Given the description of an element on the screen output the (x, y) to click on. 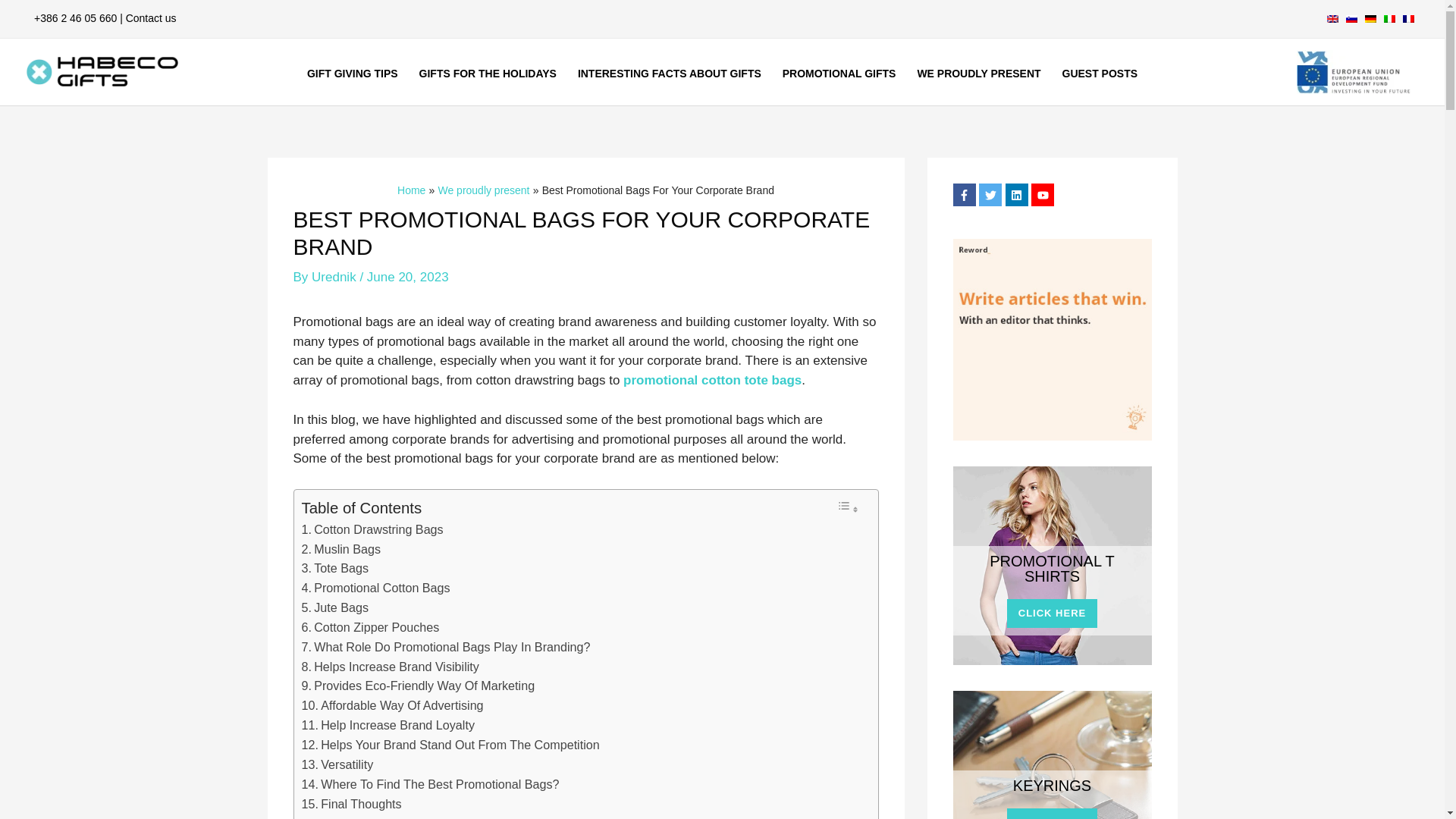
Provides Eco-Friendly Way Of Marketing (418, 686)
Versatility (337, 764)
GIFT GIVING TIPS (353, 73)
Helps Increase Brand Visibility (390, 667)
Cotton Drawstring Bags (372, 529)
View all posts by Urednik (335, 277)
INTERESTING FACTS ABOUT GIFTS (669, 73)
Tote Bags (334, 568)
GIFTS FOR THE HOLIDAYS (488, 73)
GUEST POSTS (1099, 73)
Helps Your Brand Stand Out From The Competition (450, 745)
Final Thoughts (351, 804)
What Role Do Promotional Bags Play In Branding? (446, 647)
Promotional Cotton Bags (375, 588)
Where To Find The Best Promotional Bags? (430, 784)
